Given the description of an element on the screen output the (x, y) to click on. 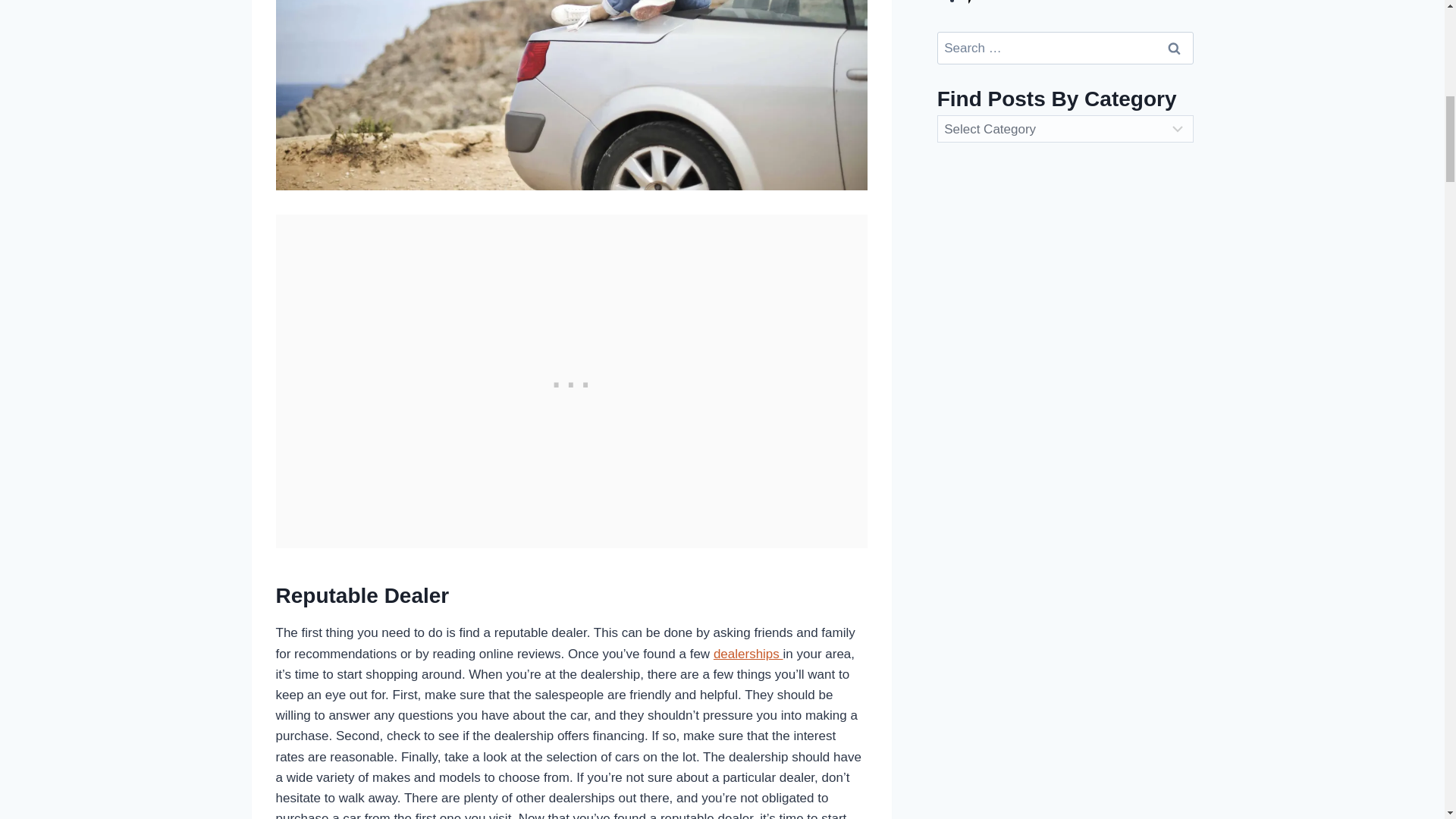
Search (1174, 47)
dealerships (748, 653)
Search (1174, 47)
